Given the description of an element on the screen output the (x, y) to click on. 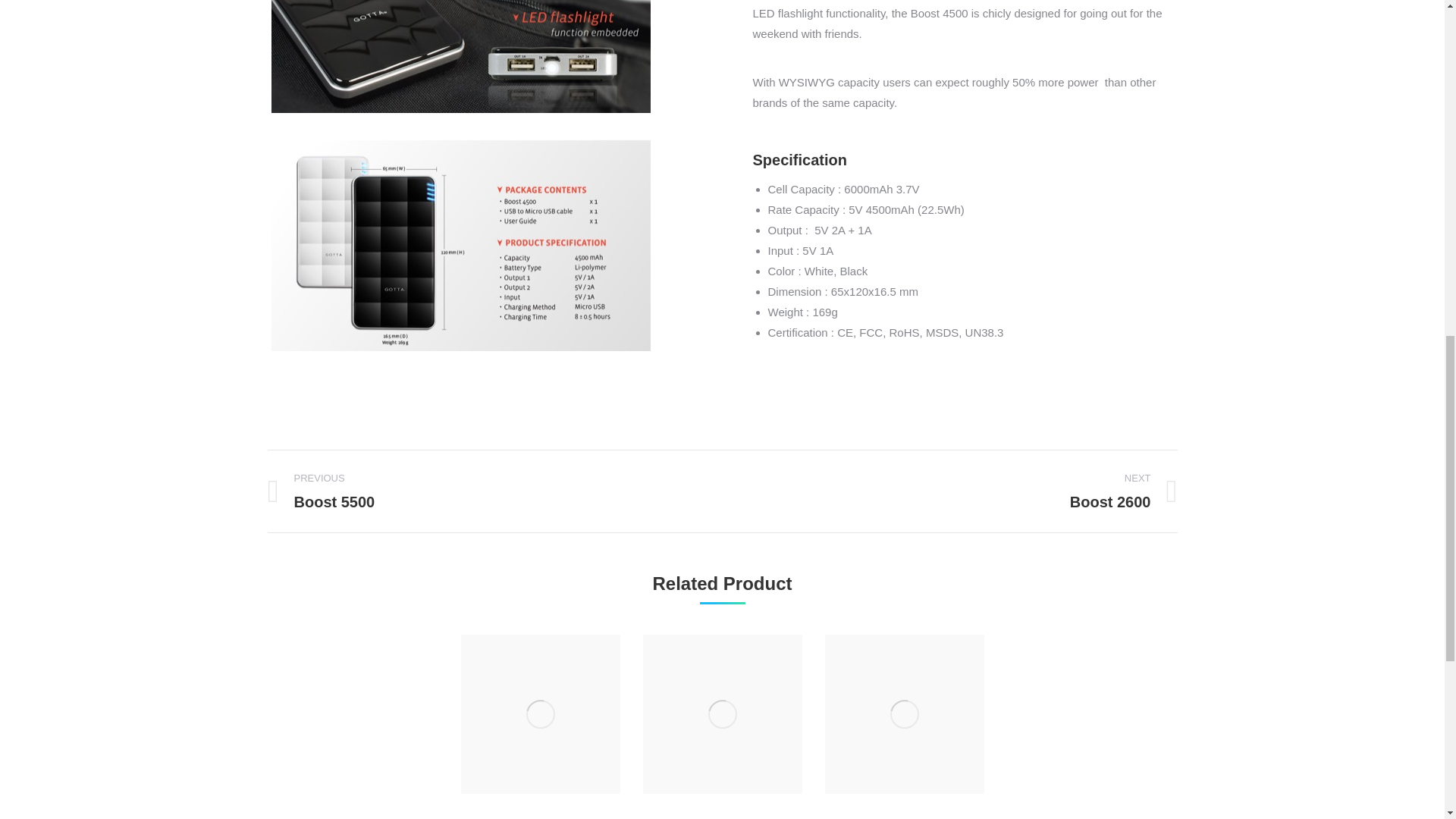
cable-1 (540, 713)
1050980-1024x1024 (482, 491)
